Given the description of an element on the screen output the (x, y) to click on. 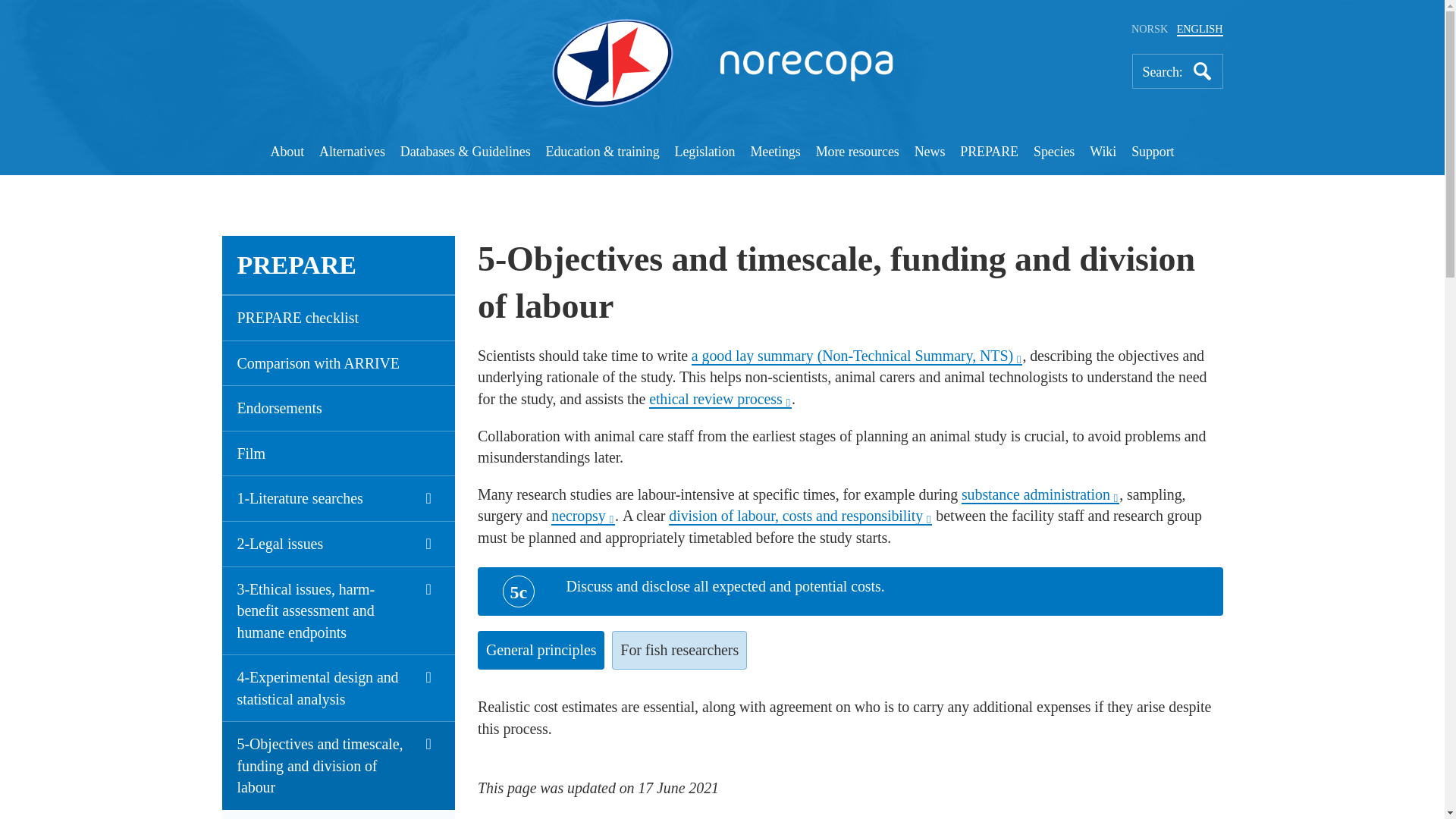
1-Literature searches (337, 497)
ENGLISH (1199, 29)
Species (1053, 153)
Meetings (774, 153)
NORSK (1149, 28)
9-Test substances and procedures (1039, 495)
News (929, 153)
Comparison with ARRIVE (337, 362)
Legislation (705, 153)
Alternatives (351, 153)
About (287, 153)
Division of labour, costs and responsibility (799, 515)
Search (1202, 71)
